Given the description of an element on the screen output the (x, y) to click on. 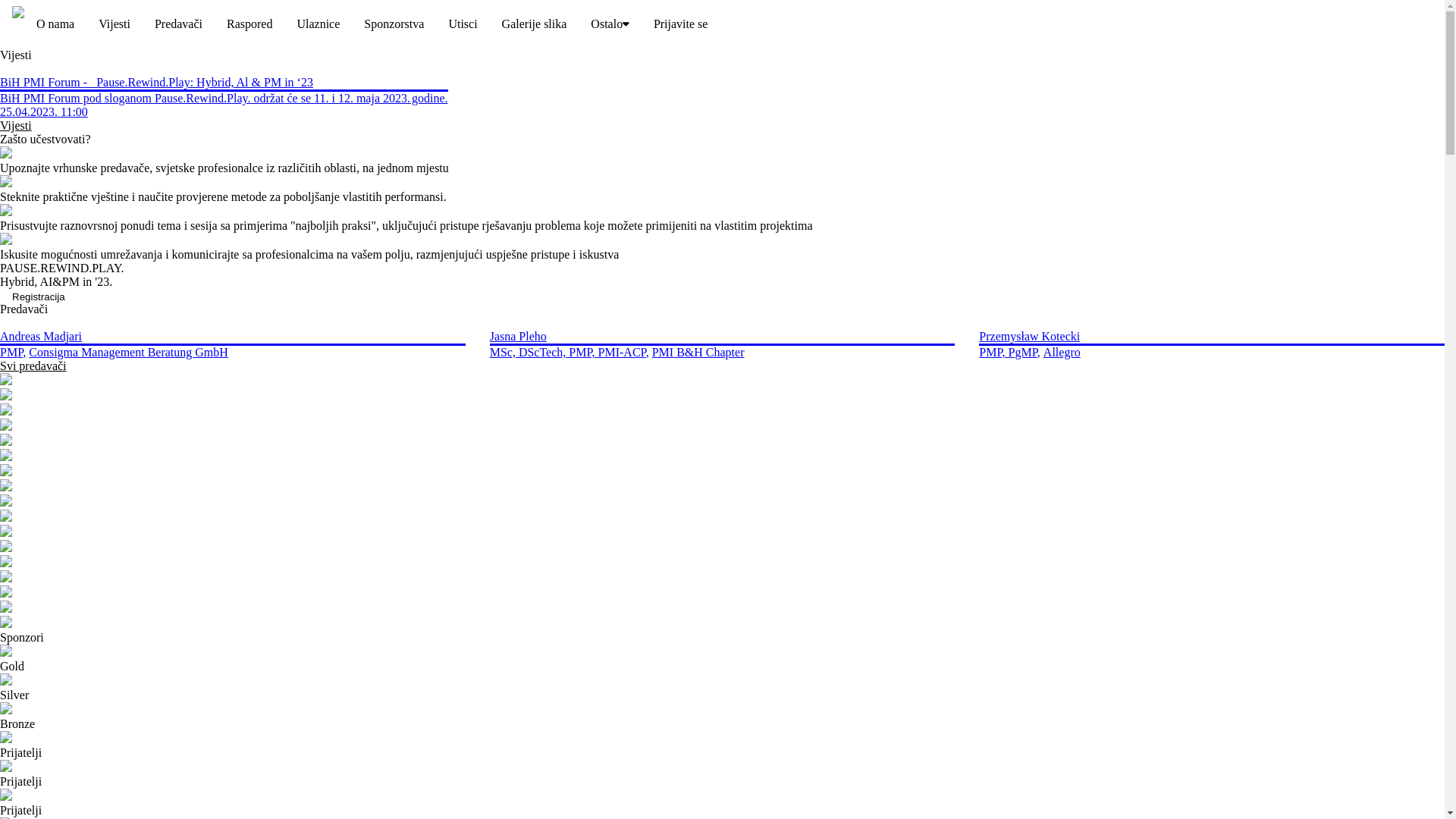
Ulaznice Element type: text (317, 24)
Registracija Element type: text (38, 296)
Prijavite se Element type: text (680, 24)
Andreas Madjari
PMP,Consigma Management Beratung GmbH Element type: text (232, 337)
O nama Element type: text (55, 24)
Vijesti Element type: text (15, 125)
Sponzorstva Element type: text (393, 24)
Galerije slika Element type: text (534, 24)
Ostalo Element type: text (609, 24)
Vijesti Element type: text (114, 24)
Jasna Pleho
MSc, DScTech, PMP, PMI-ACP,PMI B&H Chapter Element type: text (722, 337)
Raspored Element type: text (249, 24)
Utisci Element type: text (462, 24)
